Given the description of an element on the screen output the (x, y) to click on. 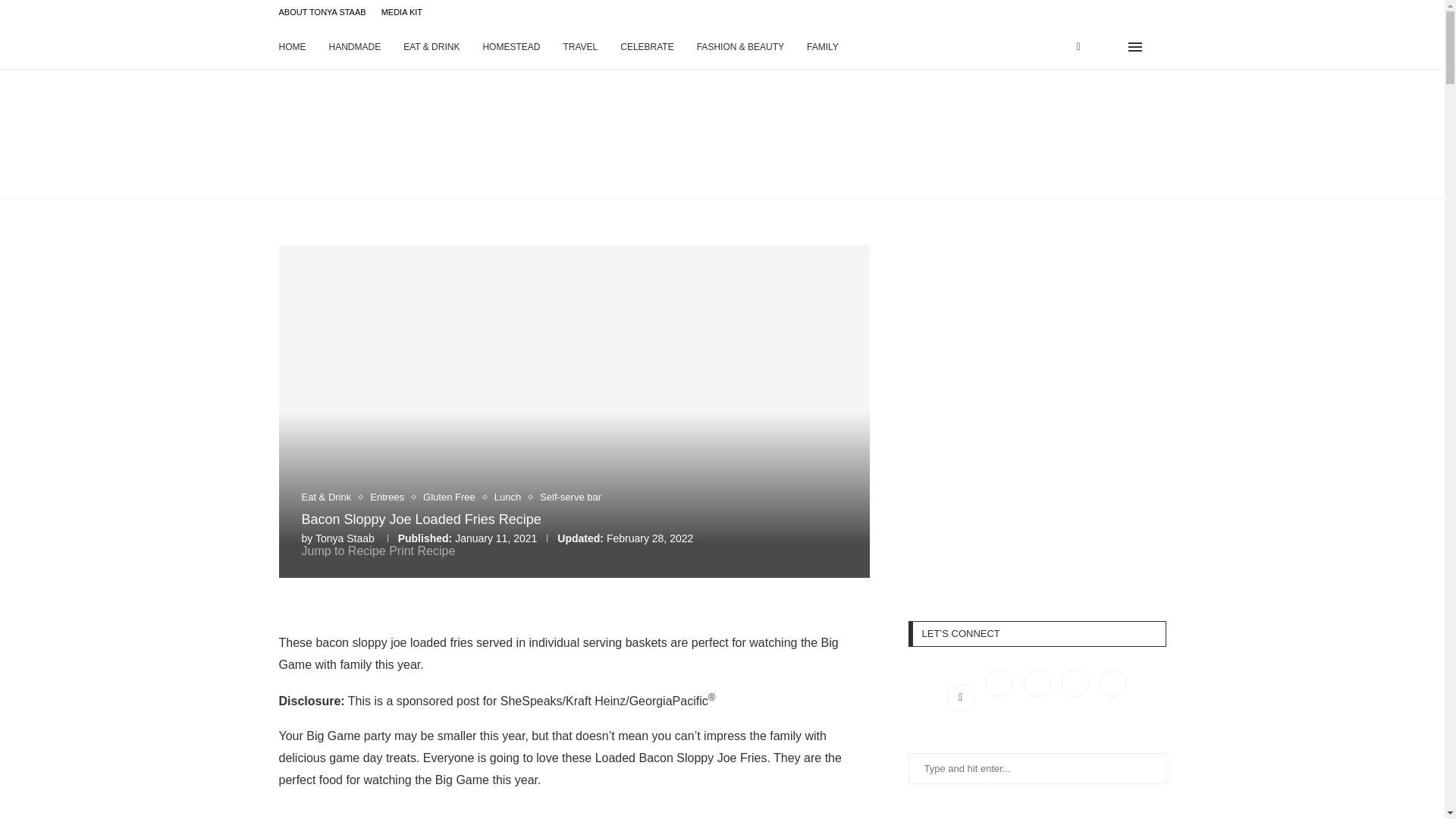
HANDMADE (355, 46)
HOMESTEAD (510, 46)
Entrees (390, 497)
Lunch (511, 497)
Self-serve bar (570, 497)
Gluten Free (453, 497)
Jump to Recipe (343, 550)
Print Recipe (421, 550)
Tonya Staab (344, 538)
MEDIA KIT (401, 12)
CELEBRATE (646, 46)
ABOUT TONYA STAAB (322, 12)
